Given the description of an element on the screen output the (x, y) to click on. 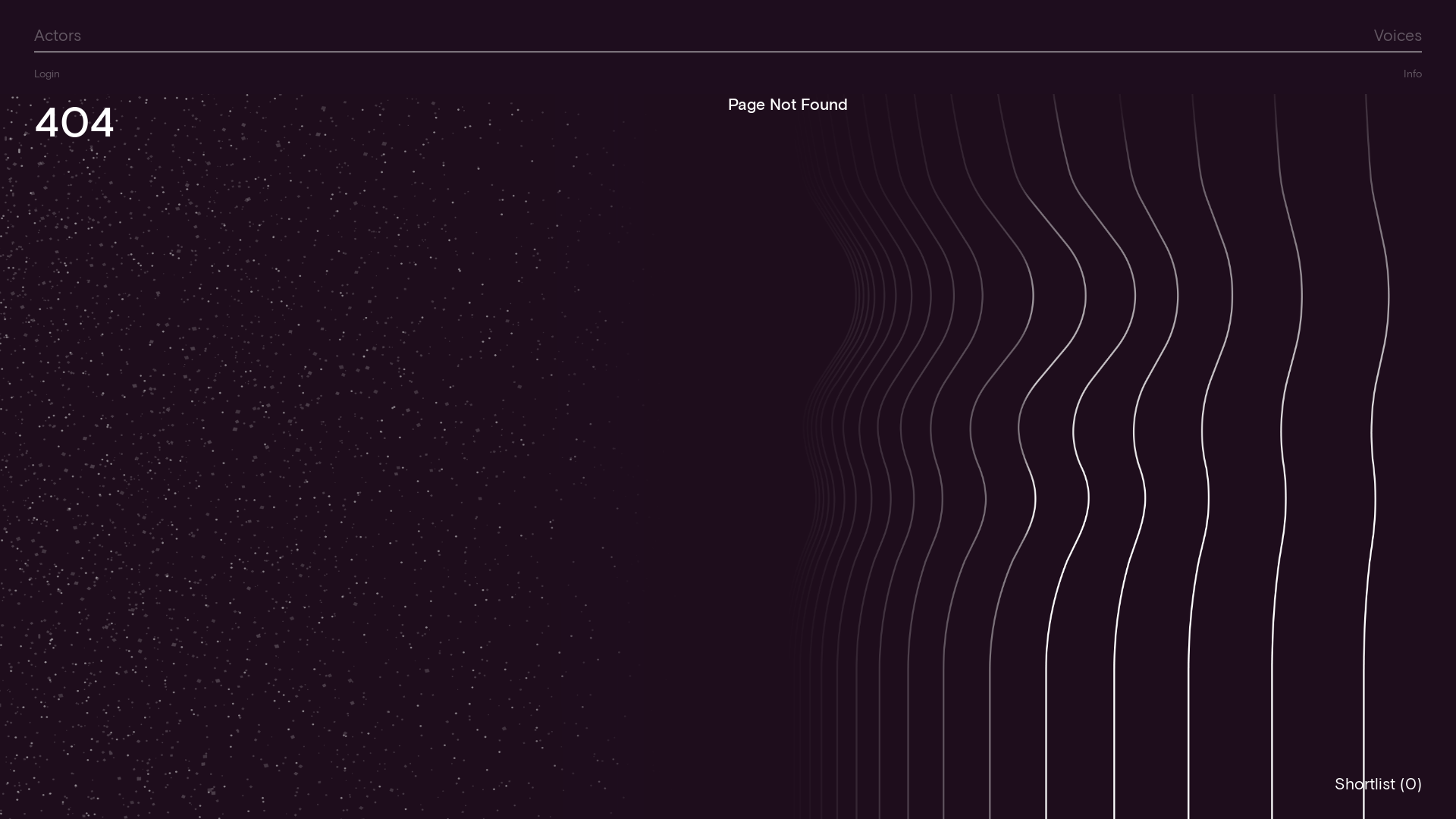
Voices Element type: text (1397, 34)
Shortlist (0) Element type: text (1377, 783)
Login Element type: text (46, 73)
Actors Element type: text (57, 34)
Info Element type: text (1412, 72)
